Given the description of an element on the screen output the (x, y) to click on. 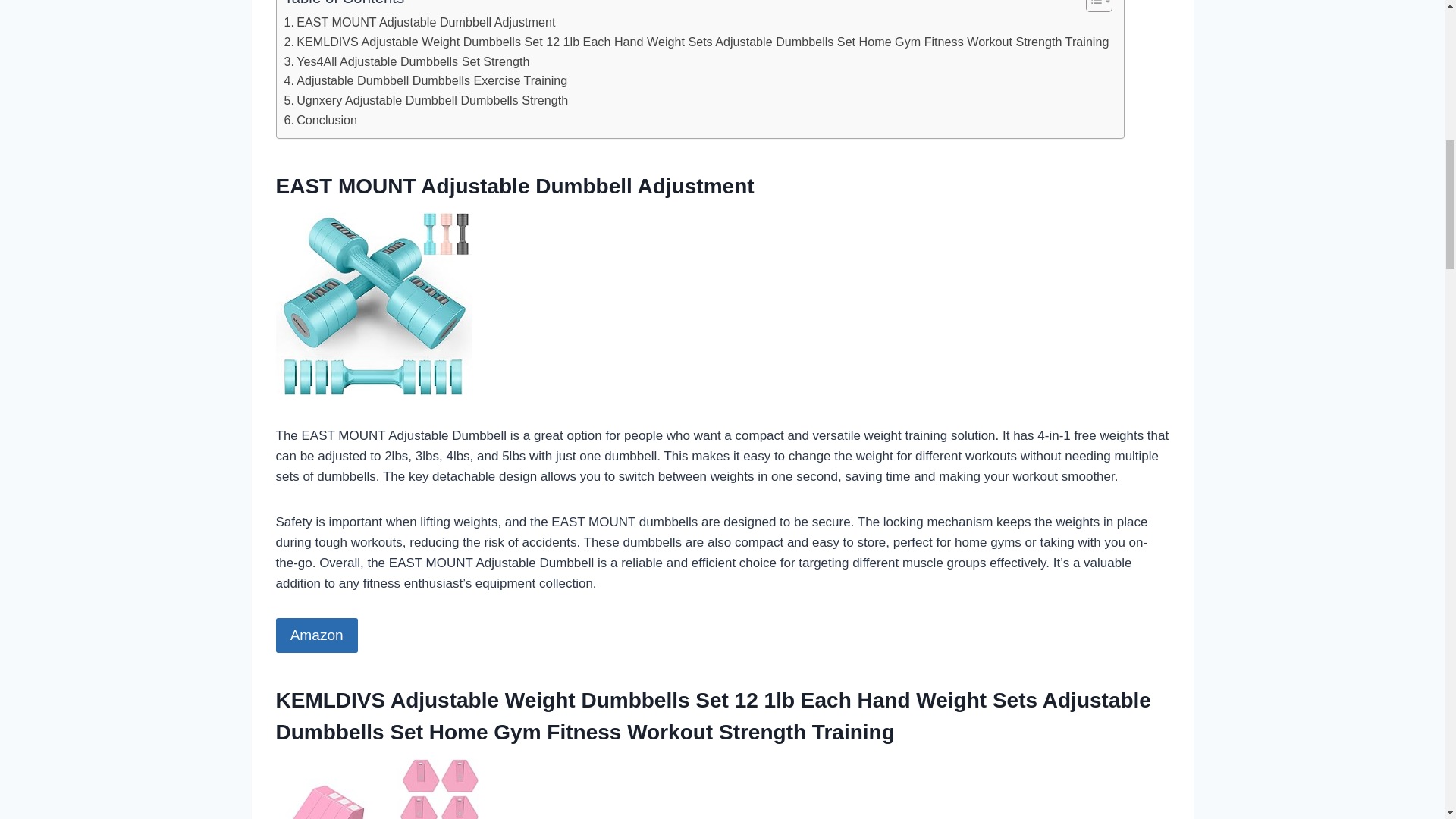
Ugnxery Adjustable Dumbbell Dumbbells Strength (425, 100)
EAST MOUNT Adjustable Dumbbell Adjustment (418, 22)
Conclusion (319, 120)
Amazon (317, 635)
Yes4All Adjustable Dumbbells Set Strength (406, 62)
Yes4All Adjustable Dumbbells Set Strength (406, 62)
Adjustable Dumbbell Dumbbells Exercise Training (425, 80)
Adjustable Dumbbell Dumbbells Exercise Training (425, 80)
